Given the description of an element on the screen output the (x, y) to click on. 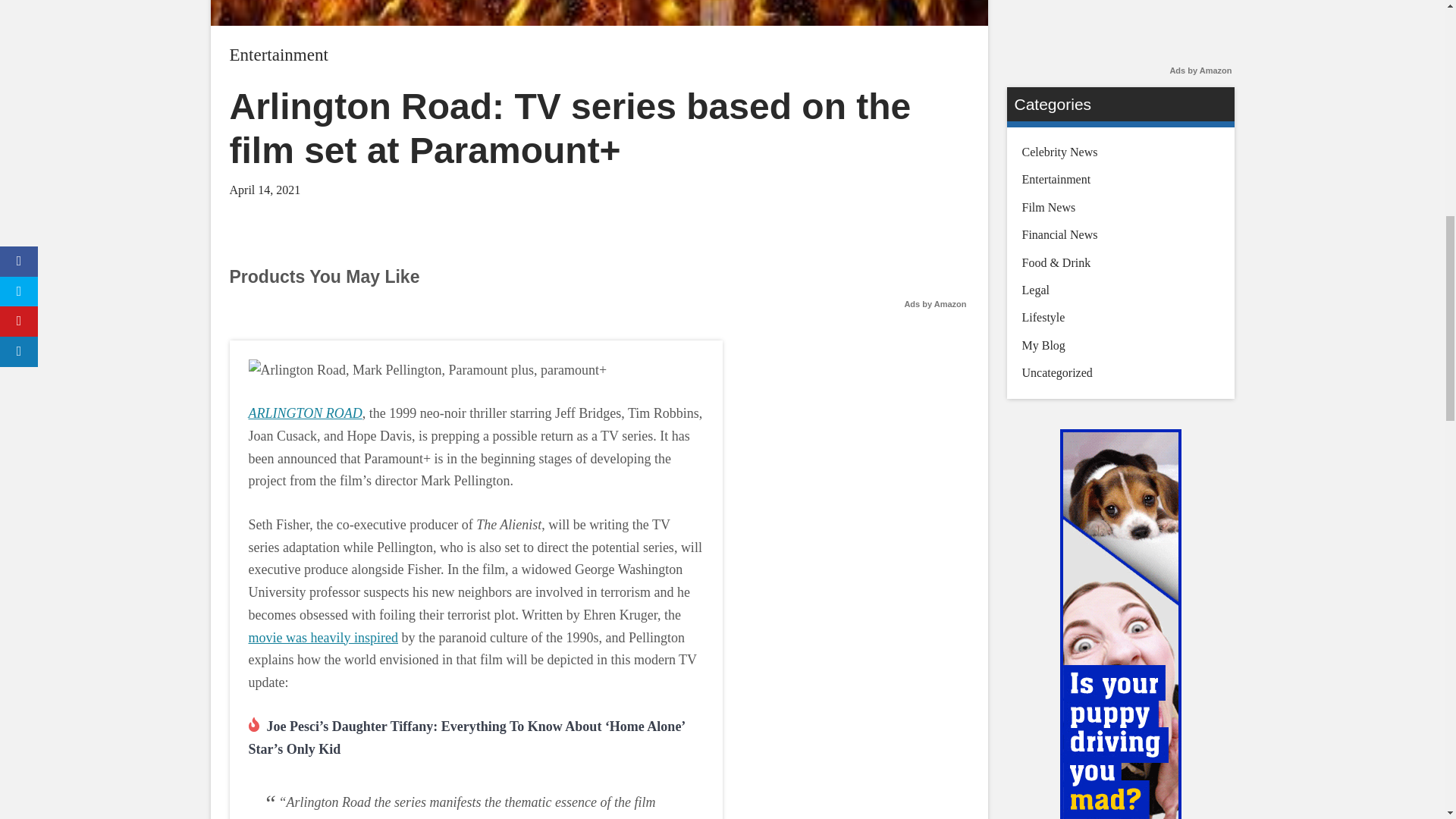
Entertainment (277, 54)
Ads by Amazon (935, 303)
Entertainment (277, 54)
ARLINGTON ROAD (305, 412)
movie was heavily inspired (322, 636)
